Given the description of an element on the screen output the (x, y) to click on. 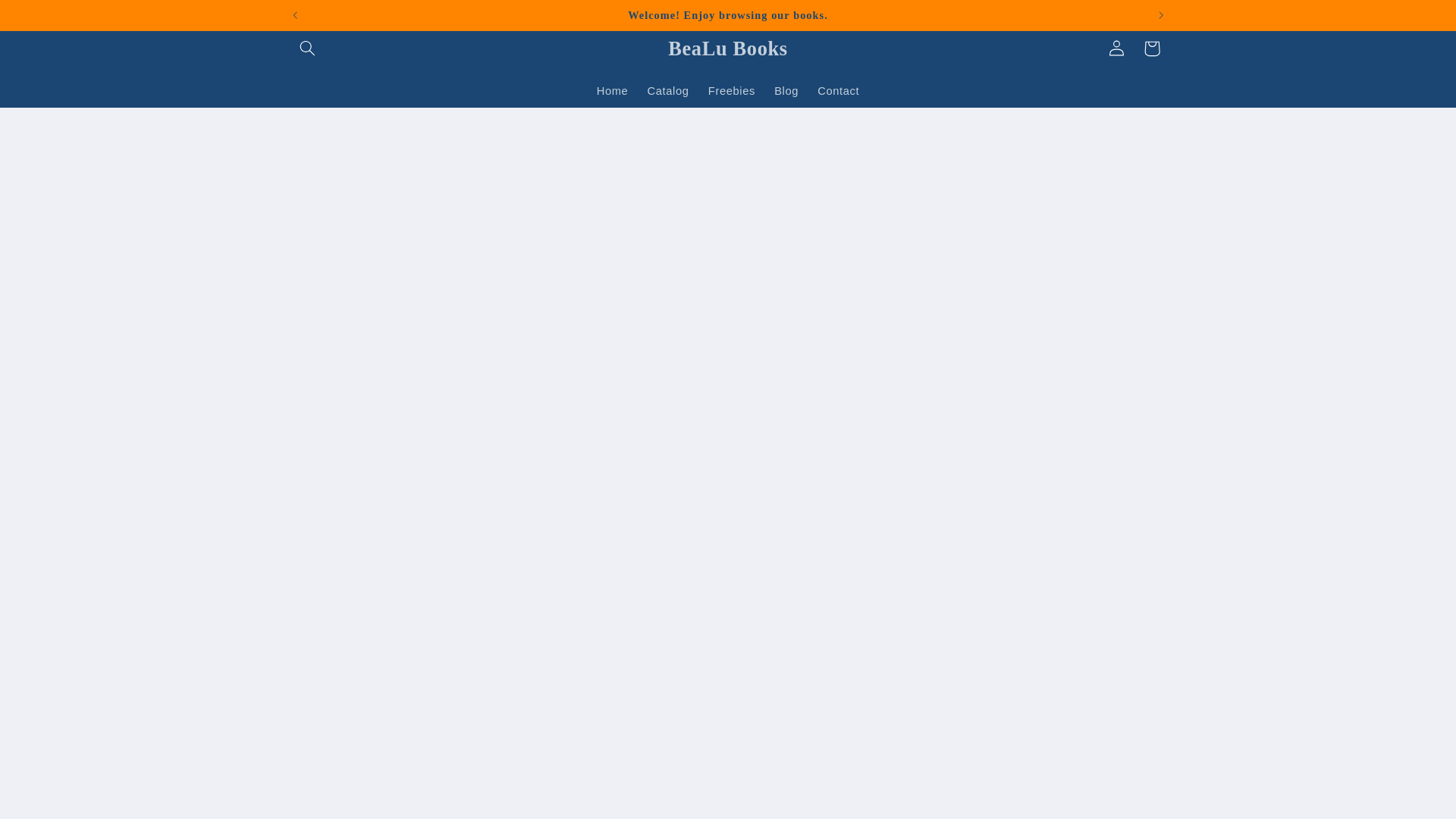
Home (611, 90)
Catalog (667, 90)
Skip to content (48, 18)
Contact (838, 90)
Log in (1116, 48)
Cart (1151, 48)
Blog (786, 90)
Freebies (731, 90)
BeaLu Books (727, 48)
